Given the description of an element on the screen output the (x, y) to click on. 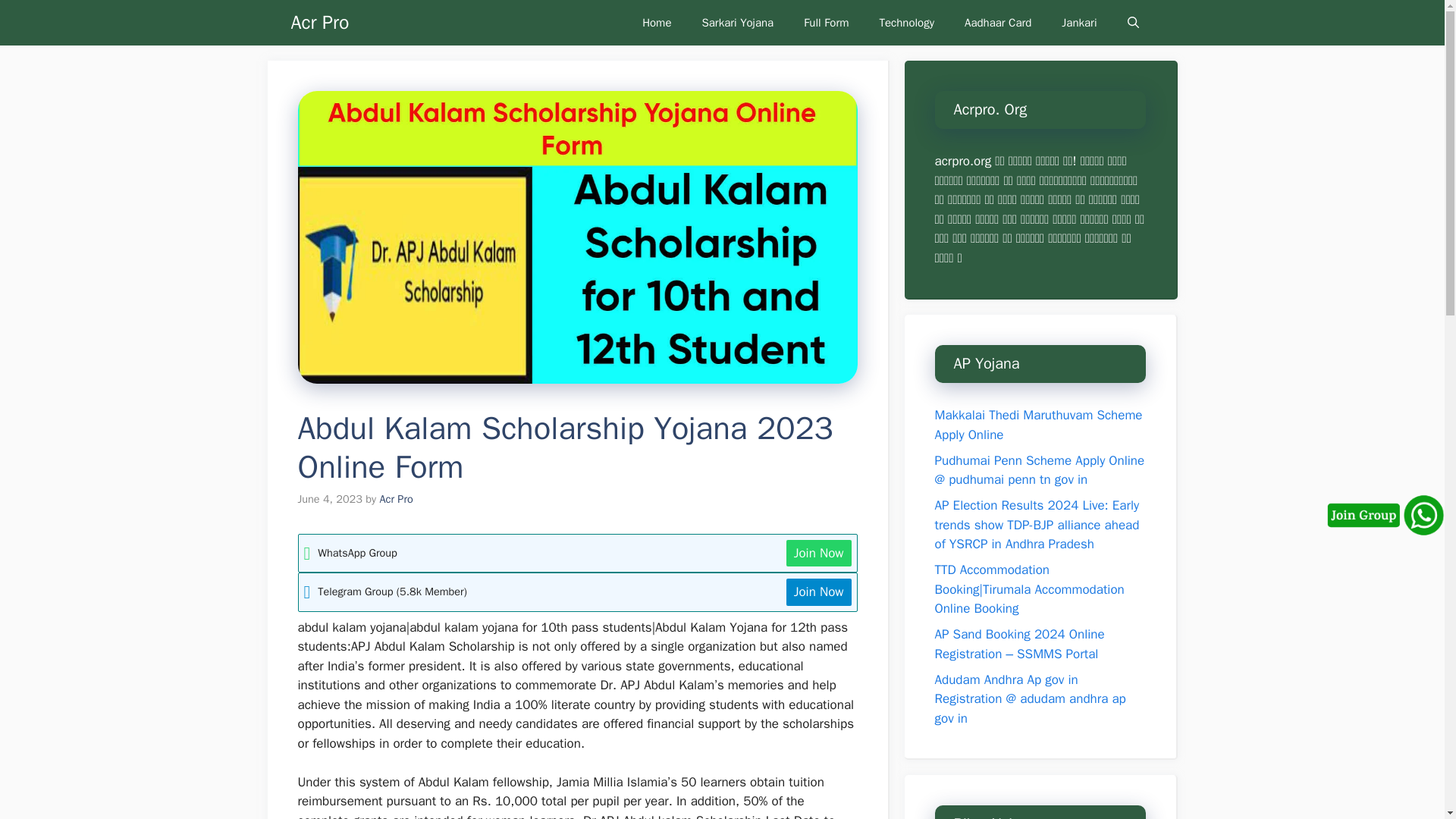
Sarkari Yojana (738, 22)
Aadhaar Card (997, 22)
Home (656, 22)
Jankari (1079, 22)
Join Now (818, 553)
Acr Pro (395, 499)
Acr Pro (320, 22)
Join Now (818, 592)
Makkalai Thedi Maruthuvam Scheme Apply Online (1037, 425)
